Given the description of an element on the screen output the (x, y) to click on. 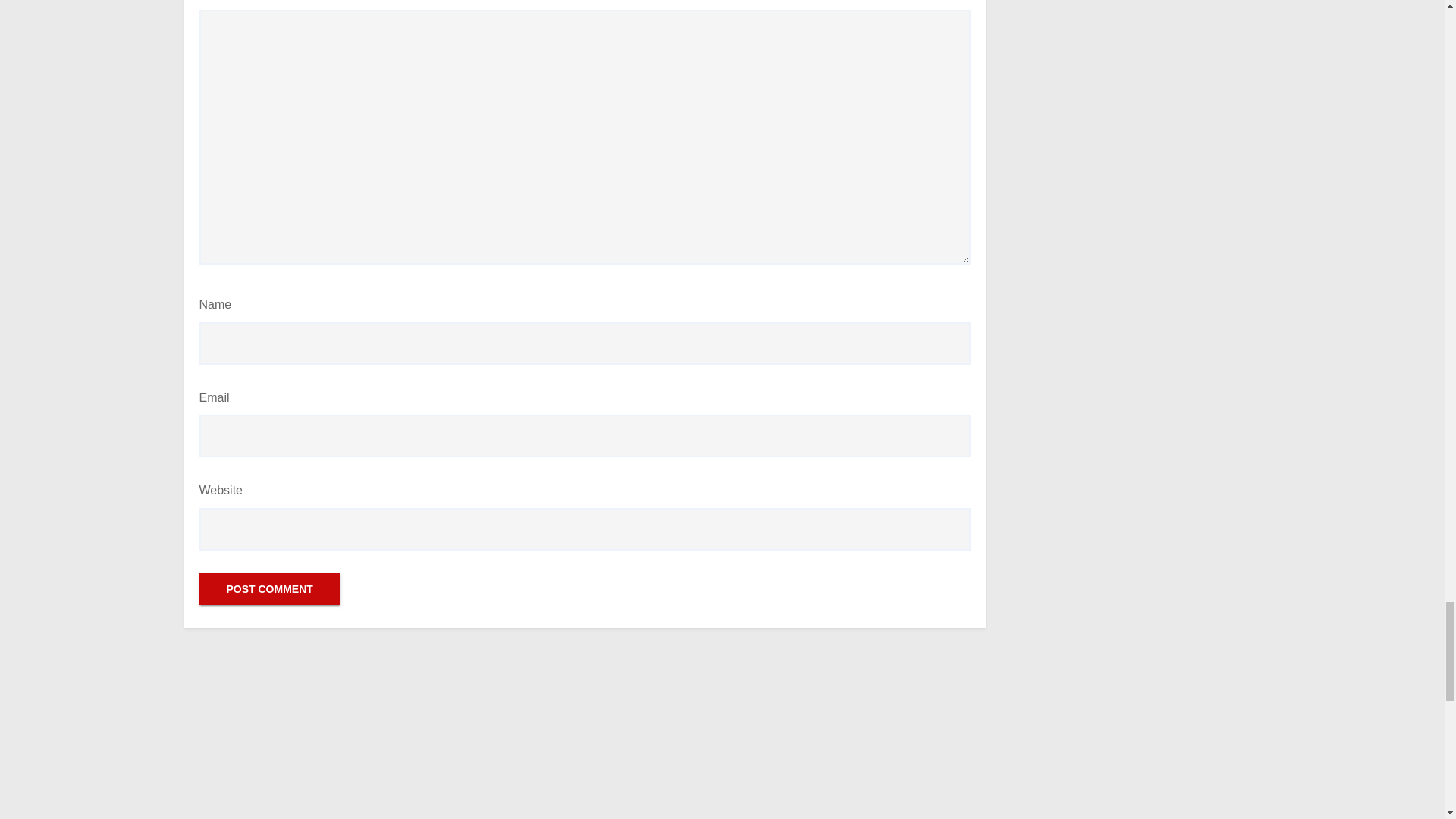
Post Comment (268, 589)
